Given the description of an element on the screen output the (x, y) to click on. 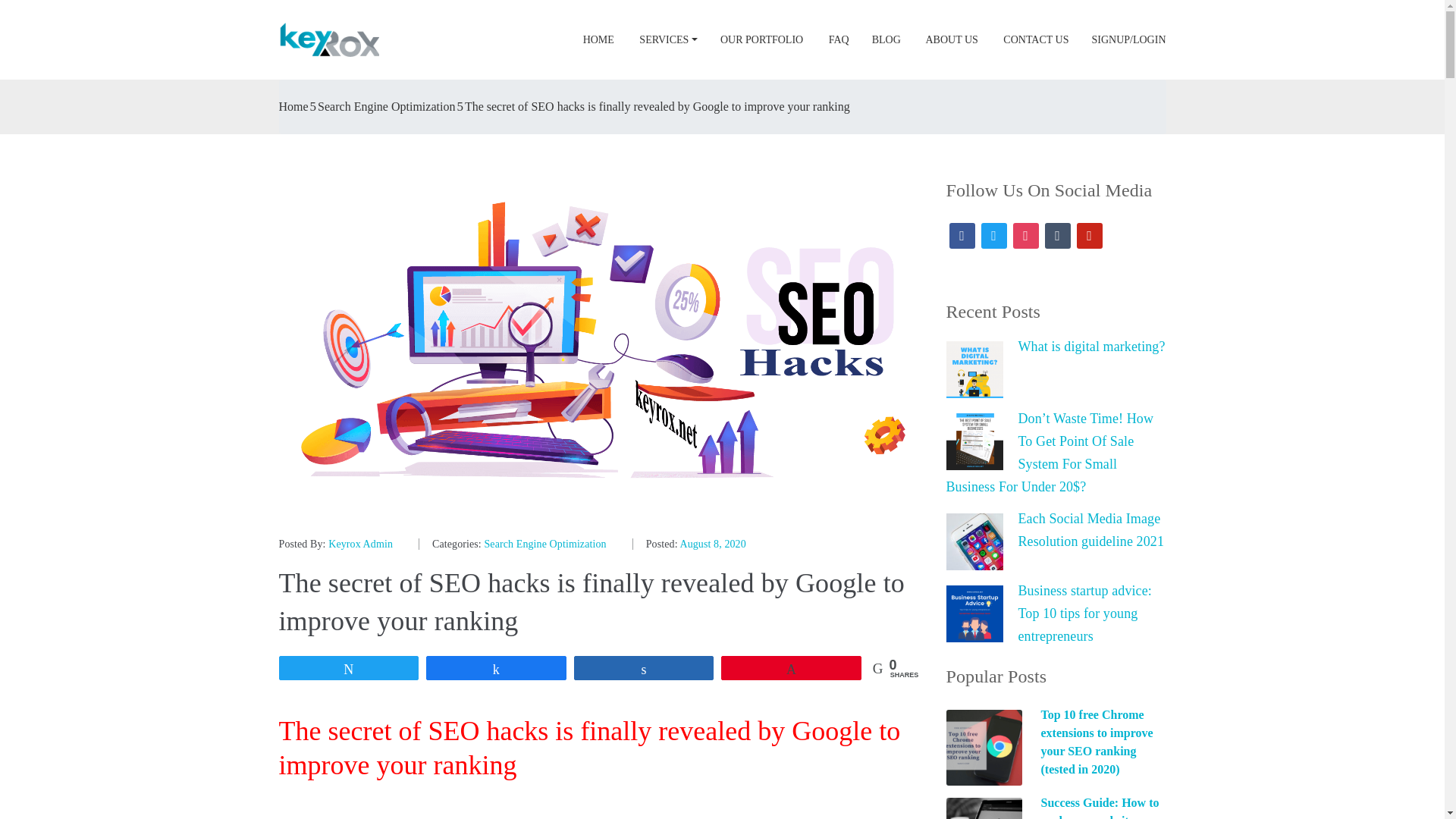
 SERVICES (667, 39)
Facebook (962, 234)
Contact Us (1035, 39)
About Us (951, 39)
What is digital marketing? (1056, 345)
Business startup advice: Top 10 tips for young entrepreneurs (1056, 613)
Services (667, 39)
Advertisement (601, 812)
OUR PORTFOLIO (761, 39)
 CONTACT US (1035, 39)
Search Engine Optimization (385, 107)
Search Engine Optimization (544, 543)
Our Portfolio (761, 39)
Each Social Media Image Resolution guideline 2021 (1056, 529)
Keyrox Admin (361, 543)
